Given the description of an element on the screen output the (x, y) to click on. 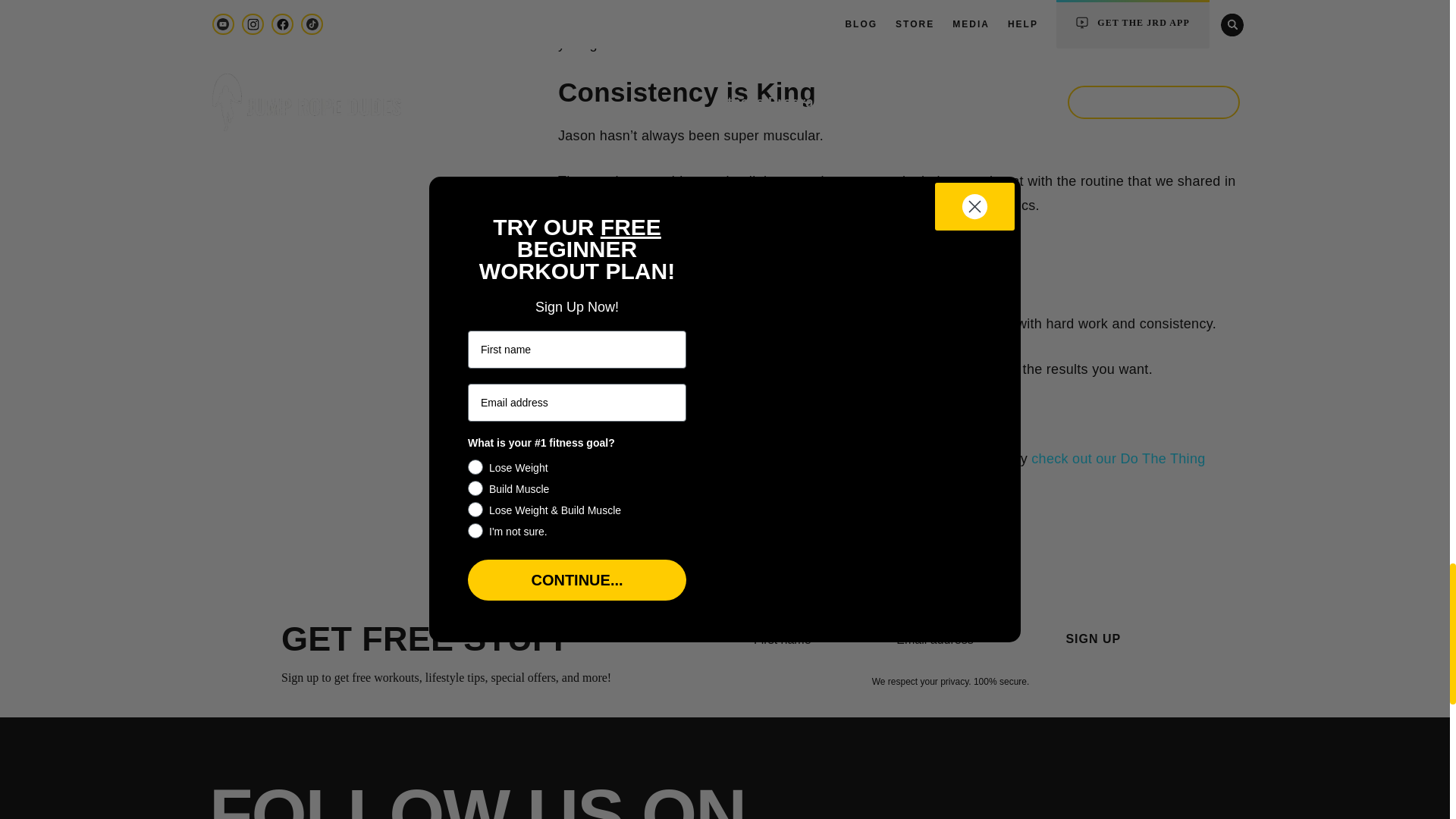
hit us up on Instagram (796, 413)
check out our Do The Thing Coaching Group (883, 470)
SIGN UP (1093, 639)
check out this video (906, 18)
